Given the description of an element on the screen output the (x, y) to click on. 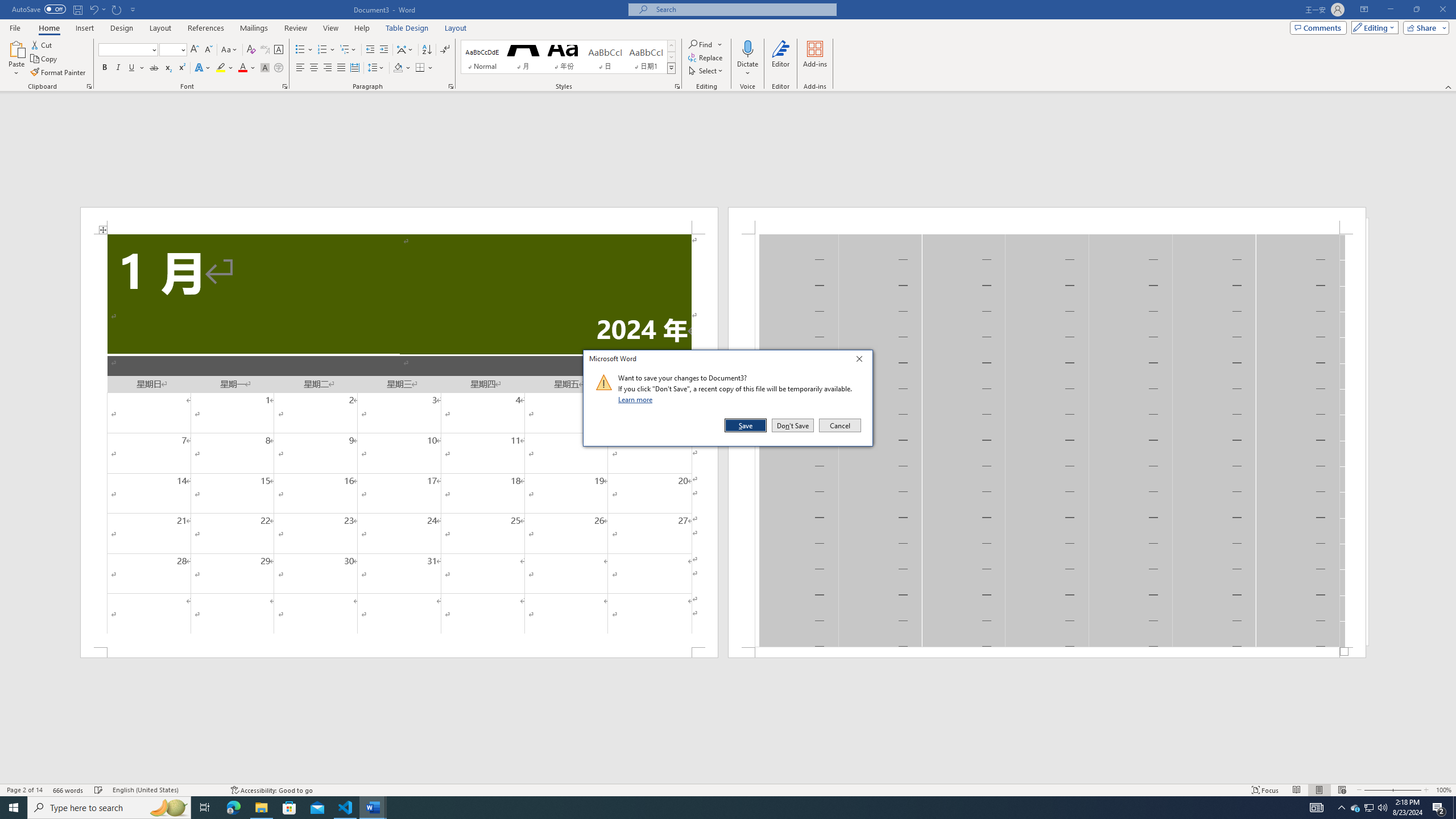
References (205, 28)
Microsoft search (742, 9)
Mailings (253, 28)
Shading RGB(0, 0, 0) (397, 67)
Mode (1372, 27)
AutomationID: QuickStylesGallery (568, 56)
Underline (136, 67)
Microsoft Store (289, 807)
Center (313, 67)
Select (705, 69)
Enclose Characters... (278, 67)
Increase Indent (383, 49)
Undo Distribute Para (96, 9)
Class: NetUIScrollBar (728, 778)
